Given the description of an element on the screen output the (x, y) to click on. 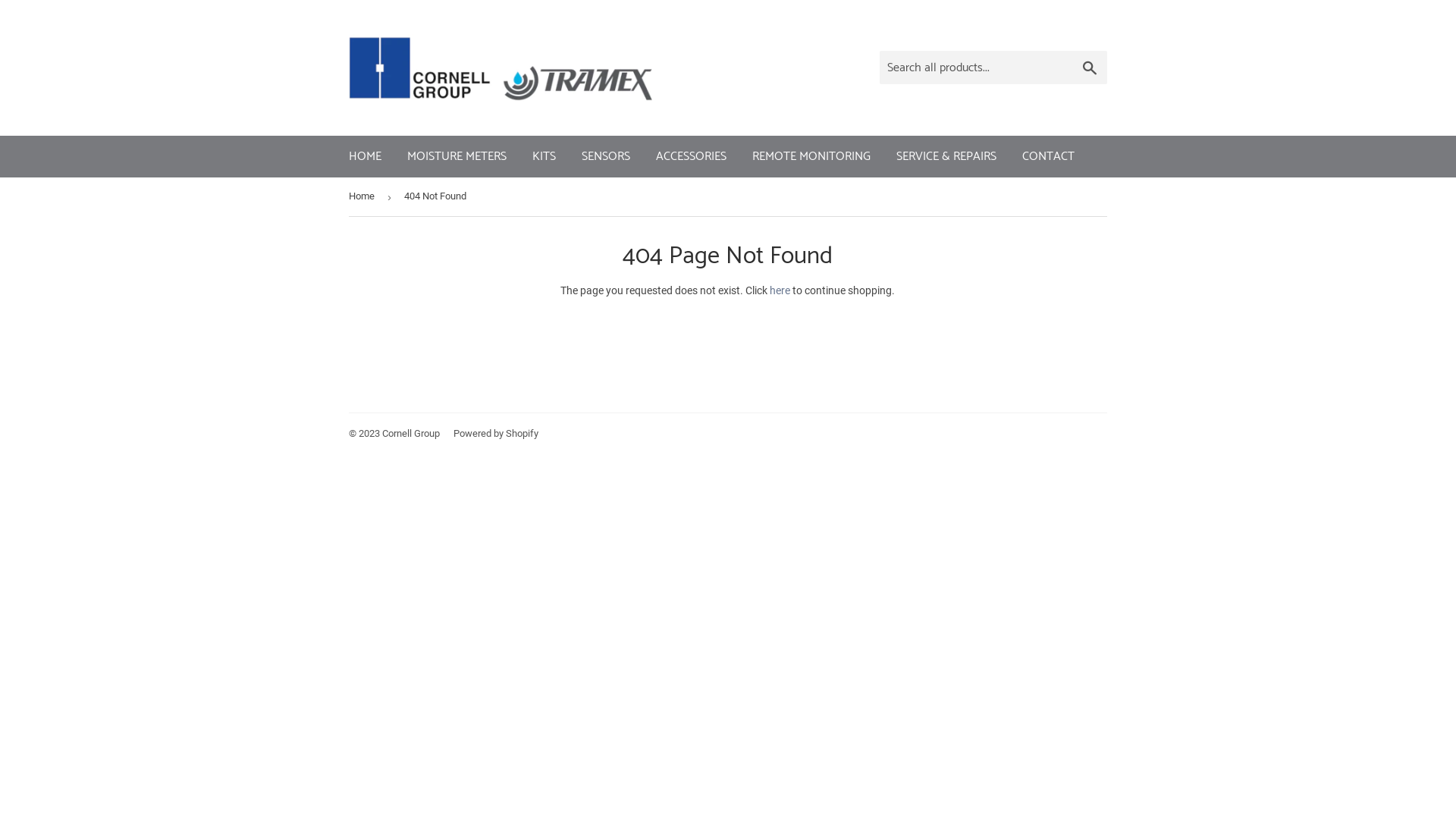
SENSORS Element type: text (605, 156)
ACCESSORIES Element type: text (690, 156)
KITS Element type: text (543, 156)
Search Element type: text (1090, 68)
CONTACT Element type: text (1047, 156)
here Element type: text (779, 290)
SERVICE & REPAIRS Element type: text (945, 156)
HOME Element type: text (364, 156)
Cornell Group Element type: text (410, 433)
MOISTURE METERS Element type: text (456, 156)
Home Element type: text (363, 196)
Powered by Shopify Element type: text (495, 433)
REMOTE MONITORING Element type: text (810, 156)
